Given the description of an element on the screen output the (x, y) to click on. 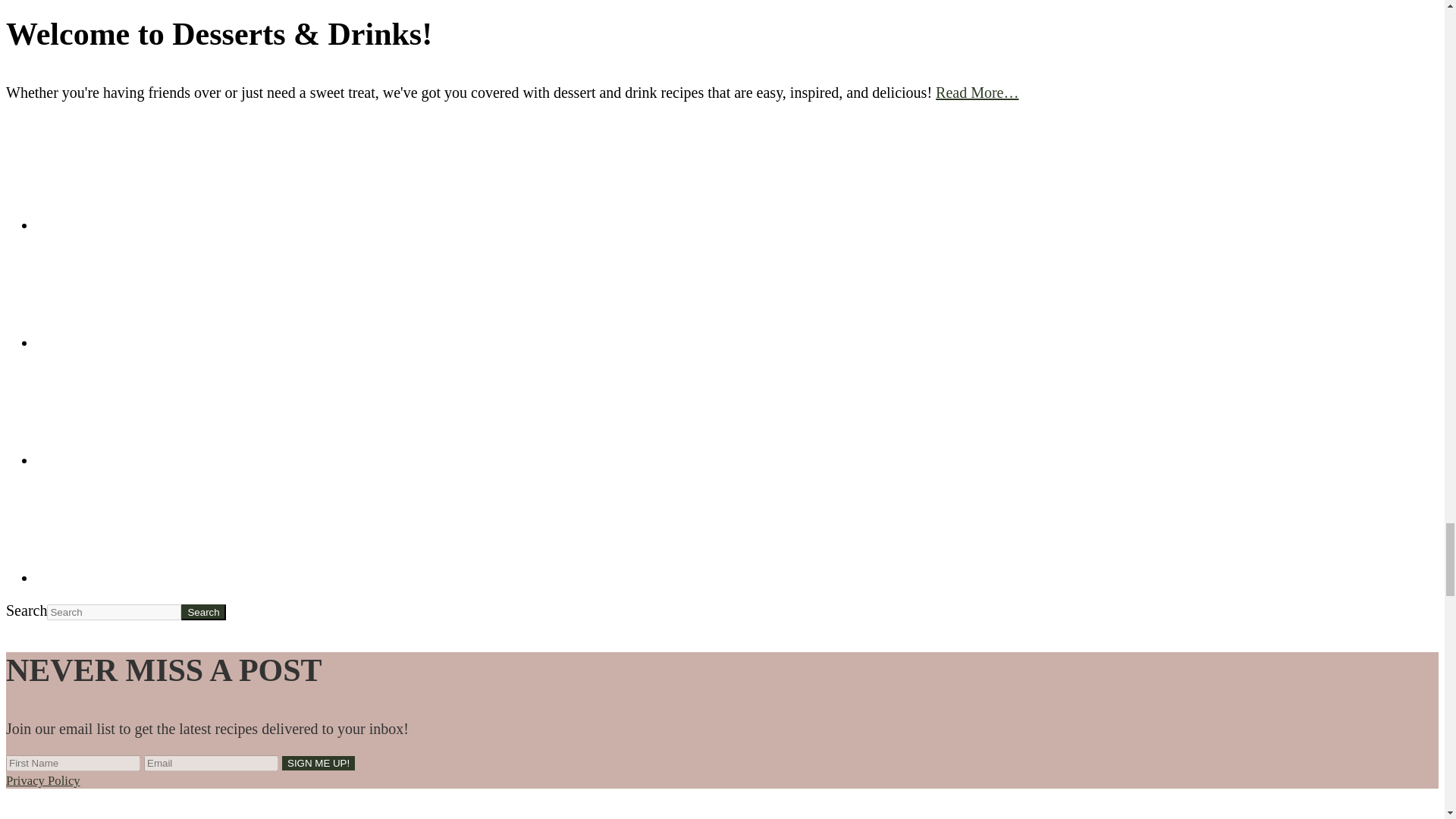
Search (202, 611)
